Given the description of an element on the screen output the (x, y) to click on. 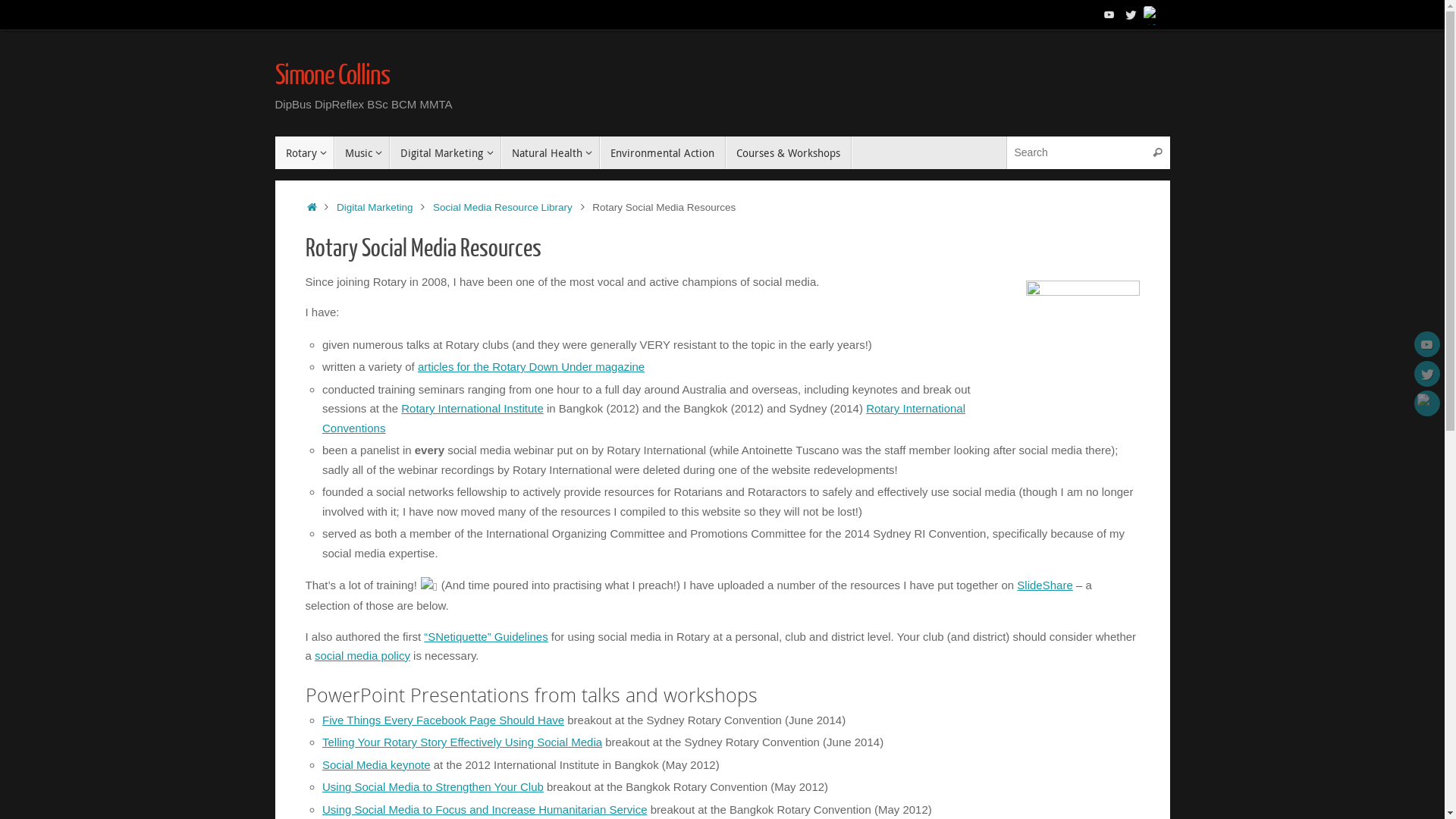
Five Things Every Facebook Page Should Have Element type: text (443, 719)
YouTube Element type: hover (1108, 14)
Music Element type: text (361, 152)
Social Media keynote Element type: text (376, 764)
Environmental Action Element type: text (662, 152)
Telling Your Rotary Story Effectively Using Social Media Element type: text (462, 741)
Search Element type: text (1157, 152)
Natural Health Element type: text (550, 152)
RSS Element type: hover (1427, 403)
Digital Marketing Element type: text (374, 207)
Social Media Resource Library Element type: text (502, 207)
social media policy Element type: text (362, 655)
Digital Marketing Element type: text (444, 152)
Rotary International Conventions Element type: text (643, 417)
Courses & Workshops Element type: text (788, 152)
YouTube Element type: hover (1427, 344)
Twitter Element type: hover (1129, 14)
Skip to content Element type: text (274, 159)
SlideShare Element type: text (1044, 584)
Simone Collins Element type: text (331, 76)
Twitter Element type: hover (1427, 373)
Rotary International Institute Element type: text (472, 407)
Rotary Element type: text (303, 152)
RSS Element type: hover (1150, 14)
Using Social Media to Strengthen Your Club Element type: text (432, 786)
Home Element type: text (311, 207)
articles for the Rotary Down Under magazine Element type: text (530, 366)
